Given the description of an element on the screen output the (x, y) to click on. 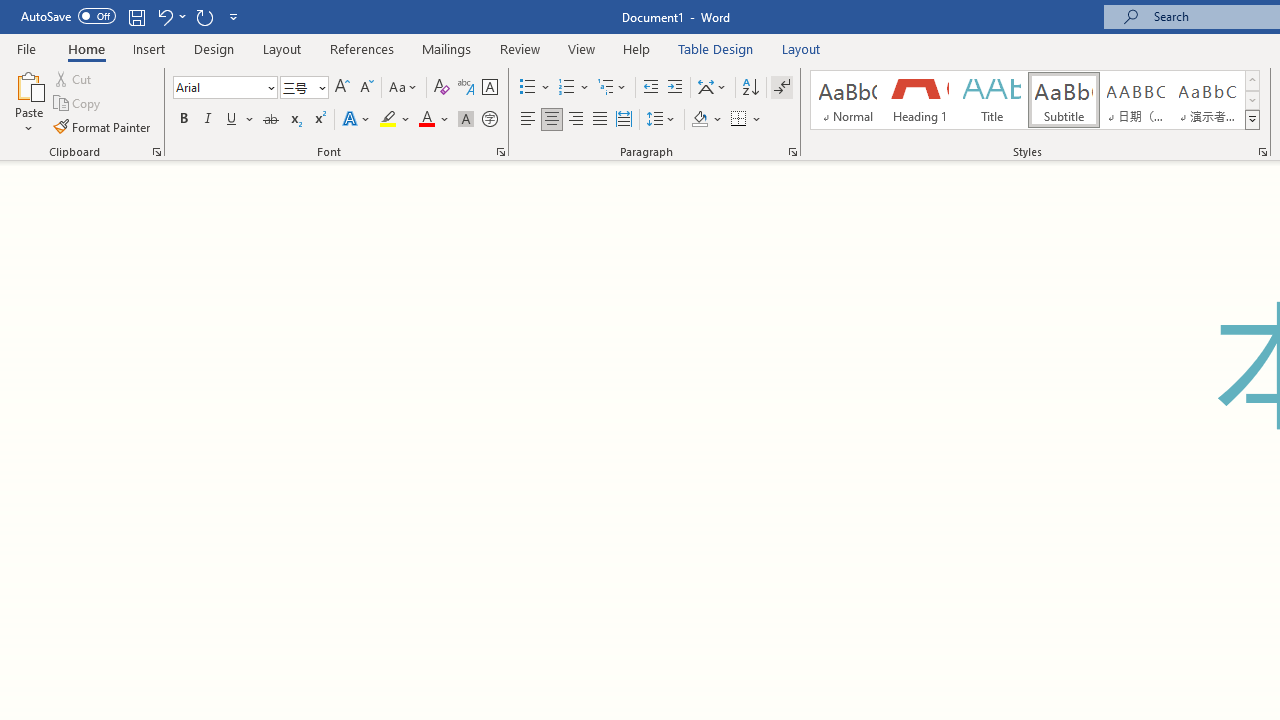
Font Color Red (426, 119)
Repeat Doc Close (204, 15)
